Given the description of an element on the screen output the (x, y) to click on. 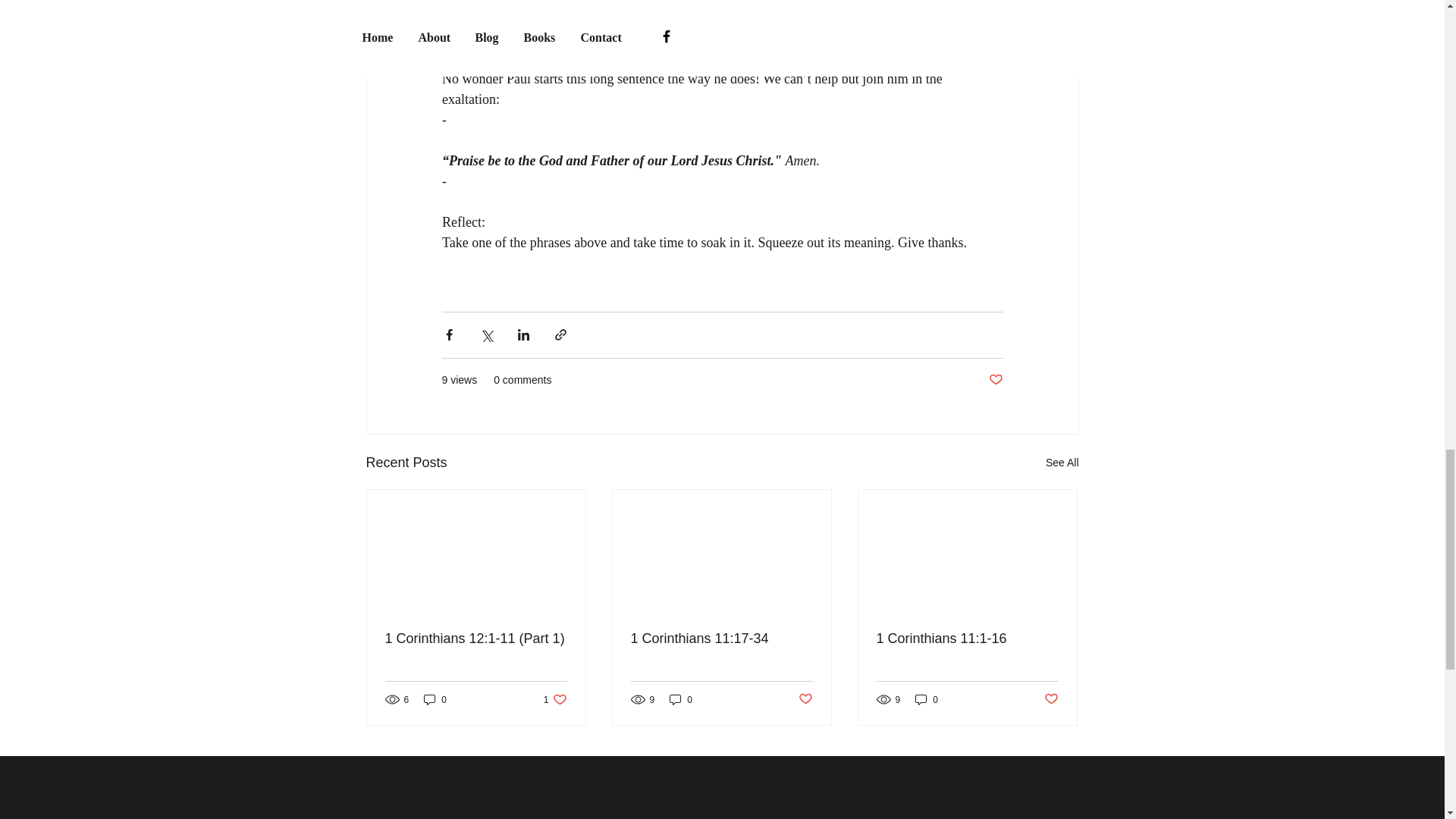
Post not marked as liked (1050, 699)
Post not marked as liked (995, 380)
1 Corinthians 11:1-16 (967, 638)
0 (435, 699)
0 (555, 699)
See All (681, 699)
1 Corinthians 11:17-34 (1061, 463)
0 (721, 638)
Post not marked as liked (926, 699)
